Given the description of an element on the screen output the (x, y) to click on. 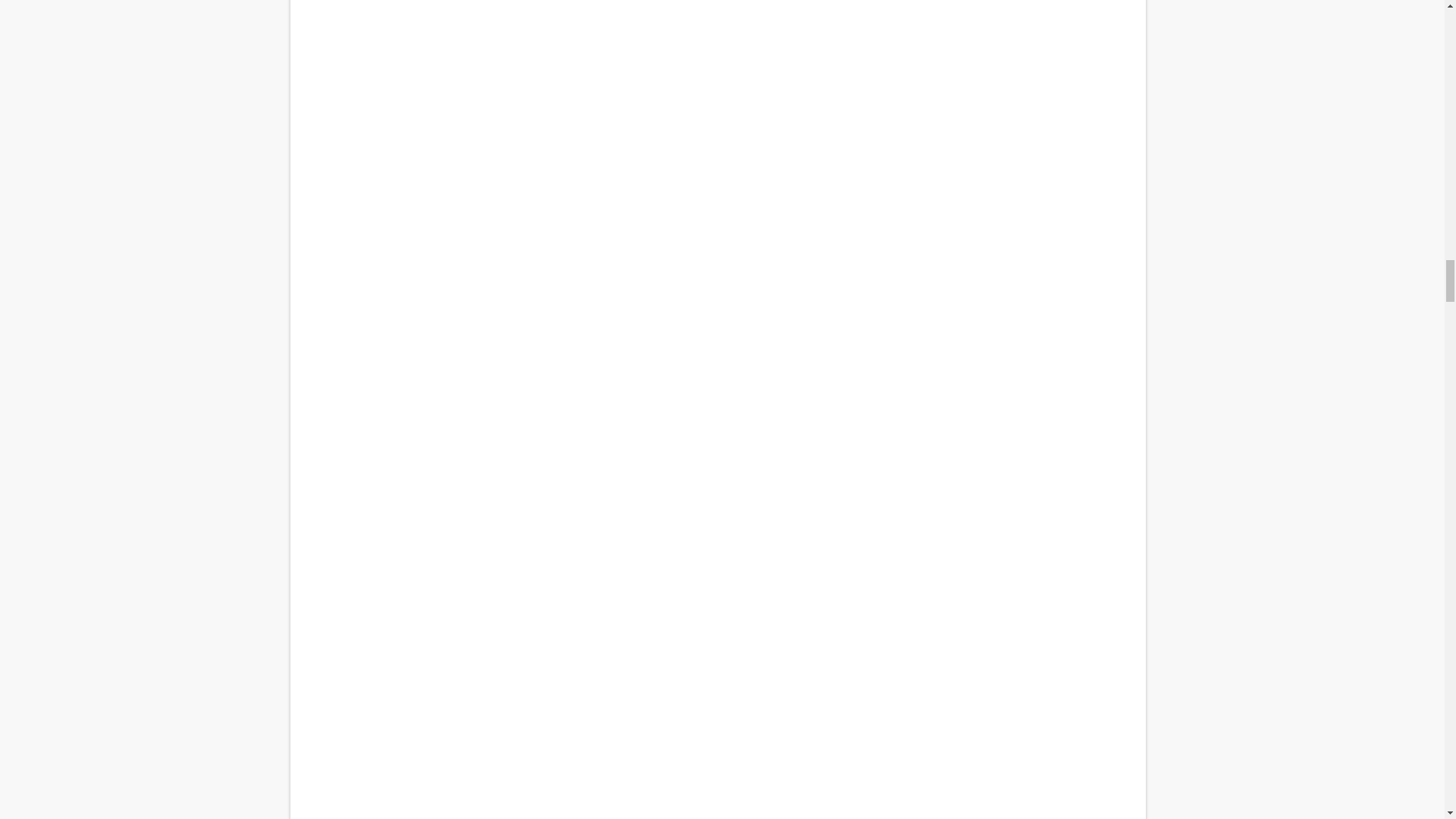
Commonly confused words (717, 33)
